Given the description of an element on the screen output the (x, y) to click on. 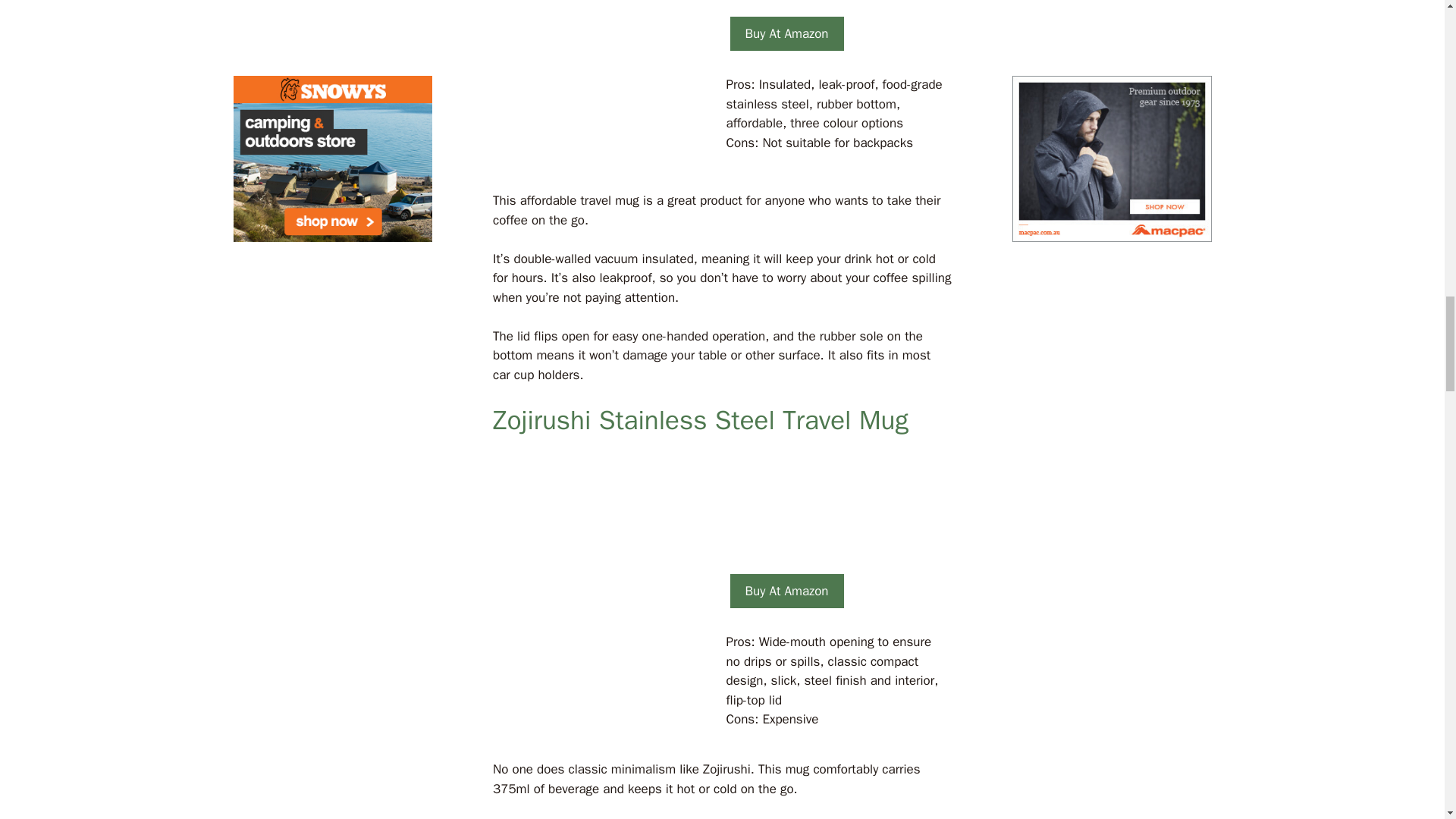
Buy At Amazon (786, 33)
Buy At Amazon (786, 591)
Zojirushi Stainless Steel Travel Mug (700, 419)
